Given the description of an element on the screen output the (x, y) to click on. 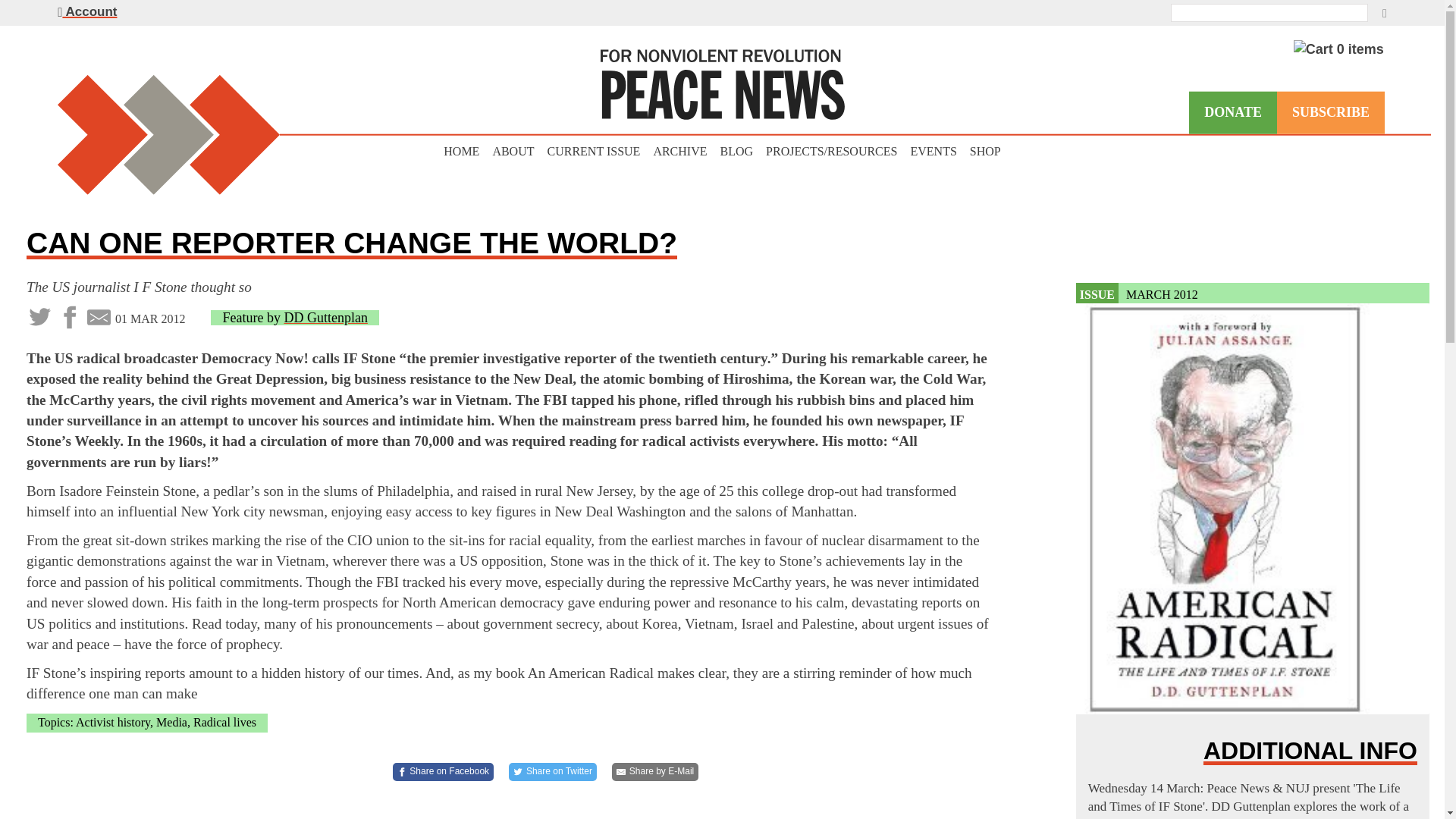
ABOUT (512, 151)
0 items (1339, 48)
DONATE (1232, 112)
HOME (461, 151)
hiv (679, 151)
SHOP (985, 151)
Share by E-Mail (654, 771)
BLOG (737, 151)
ARCHIVE (679, 151)
Account (87, 11)
DD Guttenplan (324, 317)
Share on Twitter (1252, 292)
Events (552, 771)
About (932, 151)
